Given the description of an element on the screen output the (x, y) to click on. 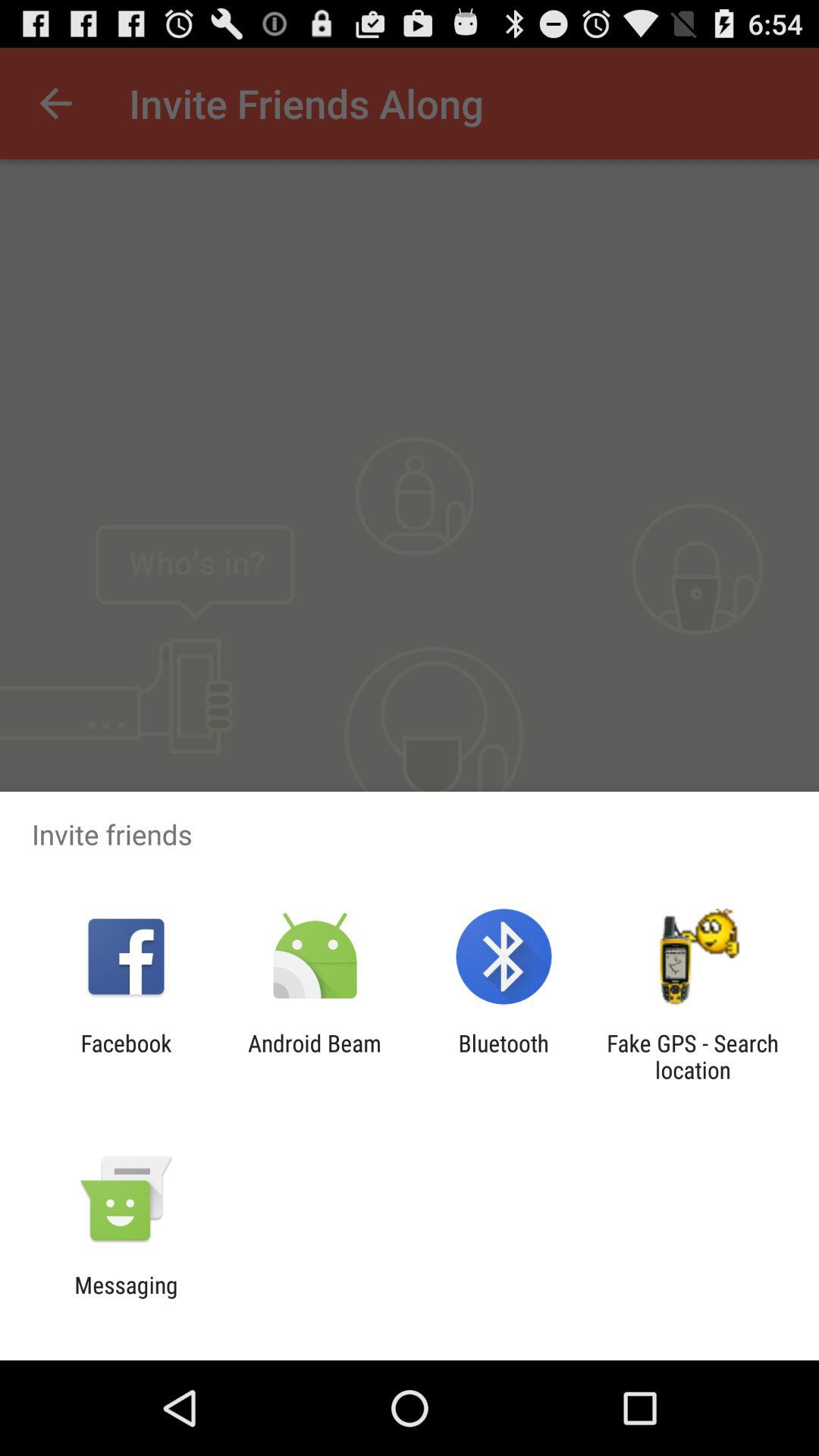
click app to the left of fake gps search app (503, 1056)
